Given the description of an element on the screen output the (x, y) to click on. 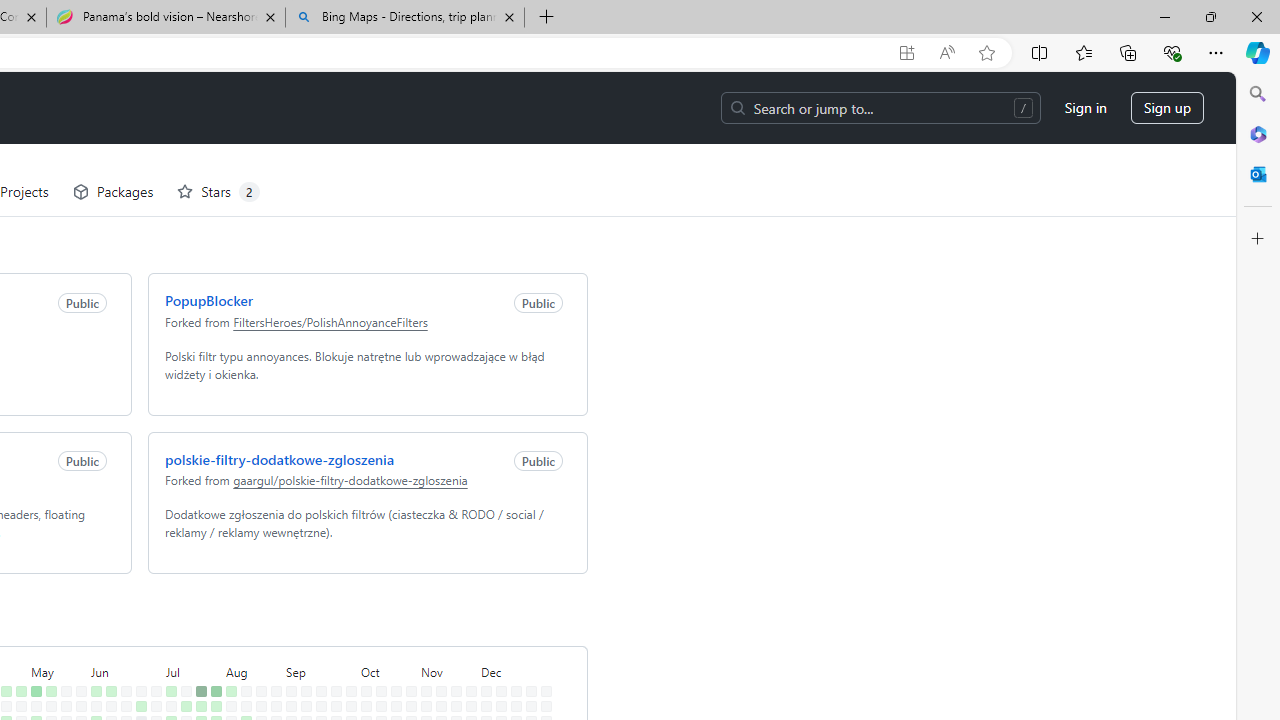
No contributions on July 2nd. (152, 649)
No contributions on May 29th. (77, 664)
1 contribution on July 29th. (212, 634)
3 contributions on August 13th. (242, 649)
August (249, 598)
No contributions on September 27th. (331, 694)
No contributions on October 31st. (407, 678)
No contributions on December 29th. (542, 619)
No contributions on July 8th. (167, 634)
6 contributions on May 5th. (32, 619)
No contributions on September 17th. (317, 649)
No contributions on September 22nd. (331, 619)
December (512, 598)
